Given the description of an element on the screen output the (x, y) to click on. 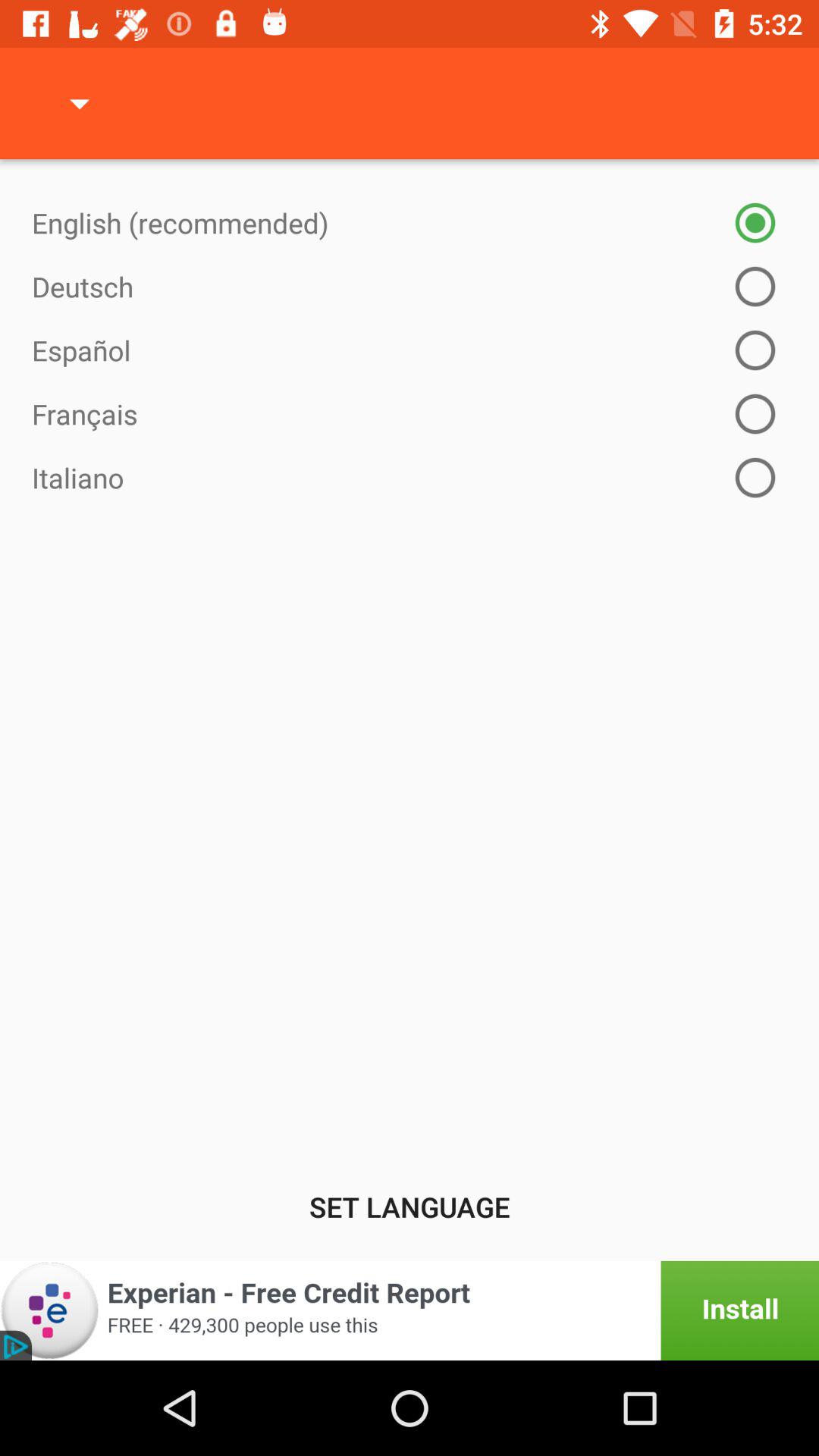
launch the item below set language item (409, 1310)
